Given the description of an element on the screen output the (x, y) to click on. 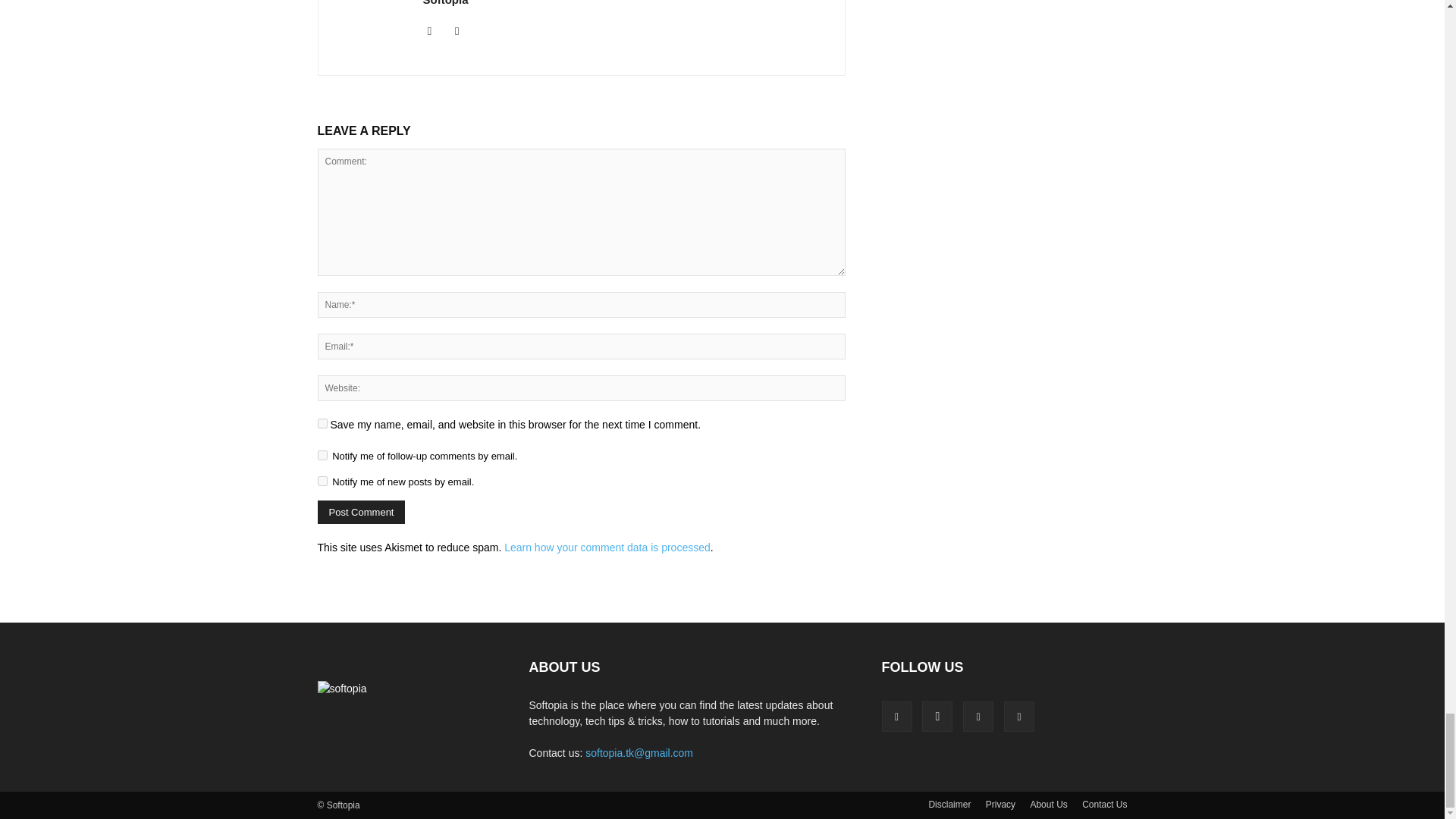
subscribe (321, 480)
yes (321, 423)
subscribe (321, 455)
Post Comment (360, 512)
